Given the description of an element on the screen output the (x, y) to click on. 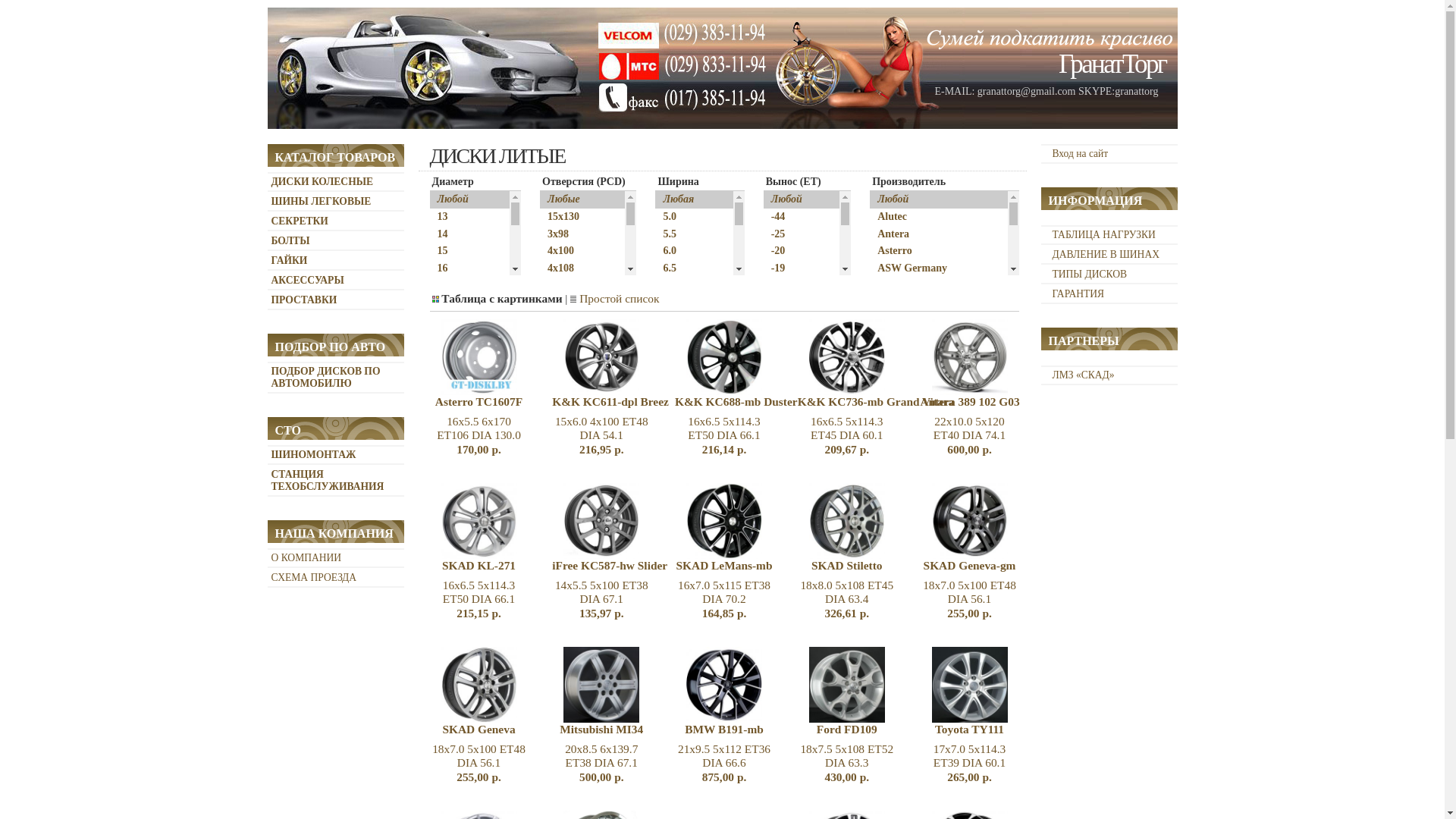
14 Element type: text (456, 234)
-25 Element type: text (788, 234)
REPLAY Element type: text (931, 787)
26 Element type: text (788, 631)
24 Element type: text (788, 596)
Mitsubishi Element type: text (931, 631)
19 Element type: text (788, 510)
15x130 Element type: text (569, 216)
ORW Element type: text (931, 666)
0 Element type: text (788, 372)
32 Element type: text (788, 752)
OZ Element type: text (931, 683)
Carwel Element type: text (931, 372)
20 Element type: text (788, 527)
7.0 Element type: text (680, 303)
MAK Element type: text (931, 596)
5x100 Element type: text (569, 320)
10.5 Element type: text (680, 423)
6.5 Element type: text (680, 268)
6.0 Element type: text (680, 250)
K&K Element type: text (931, 510)
3x98 Element type: text (569, 234)
33 Element type: text (788, 769)
6x130 Element type: text (569, 614)
ASW Germany Element type: text (931, 268)
22 Element type: text (456, 389)
FR REPLICA Element type: text (931, 441)
PDW Element type: text (931, 700)
17.50 Element type: text (456, 303)
5 Element type: text (788, 407)
5.0 Element type: text (680, 216)
LIZARDO Element type: text (931, 562)
5x120 Element type: text (569, 458)
4x108 Element type: text (569, 268)
-5 Element type: text (788, 354)
-12 Element type: text (788, 320)
19 Element type: text (456, 337)
27 Element type: text (788, 649)
11.0 Element type: text (680, 441)
-15 Element type: text (788, 303)
21 Element type: text (788, 545)
15 Element type: text (788, 458)
5x130 Element type: text (569, 493)
-18 Element type: text (788, 285)
5x98 Element type: text (569, 562)
18 Element type: text (788, 493)
PROMA Element type: text (931, 718)
BBS Element type: text (931, 320)
11.5 Element type: text (680, 458)
Asterro Element type: text (931, 250)
12 Element type: text (788, 441)
5x110 Element type: text (569, 372)
5x114.3 Element type: text (569, 407)
16 Element type: text (788, 476)
5x139.7 Element type: text (569, 510)
5x127 Element type: text (569, 476)
23 Element type: text (456, 407)
20 Element type: text (456, 354)
18 Element type: text (456, 320)
KHOMEN Element type: text (931, 527)
23 Element type: text (788, 580)
BMW Element type: text (931, 337)
DOTZ Element type: text (931, 389)
6x170 Element type: text (569, 649)
6x139.7 Element type: text (569, 631)
Jaguar Element type: text (931, 493)
5x112 Element type: text (569, 389)
iFree Element type: text (931, 476)
ATS Element type: text (931, 285)
Magnetto Element type: text (931, 580)
LandRover Element type: text (931, 545)
2 Element type: text (788, 389)
Hyundai Element type: text (931, 458)
-44 Element type: text (788, 216)
6x245 Element type: text (569, 666)
6x127 Element type: text (569, 596)
5x160 Element type: text (569, 545)
6.8 Element type: text (680, 285)
RC Element type: text (931, 752)
6x114.3 Element type: text (569, 580)
Mercedes Element type: text (931, 614)
ATS Germany Element type: text (931, 303)
5x115 Element type: text (569, 423)
5x105 Element type: text (569, 337)
Borbet Element type: text (931, 354)
10.0 Element type: text (680, 407)
Remain Element type: text (931, 769)
30 Element type: text (788, 700)
Alutec Element type: text (931, 216)
5x118 Element type: text (569, 441)
9.5 Element type: text (680, 389)
Race Ready Technology Element type: text (931, 735)
5.5 Element type: text (680, 234)
-20 Element type: text (788, 250)
8.5 Element type: text (680, 354)
25 Element type: text (788, 614)
31 Element type: text (788, 718)
4x114.3 Element type: text (569, 285)
22 Element type: text (788, 562)
5x150 Element type: text (569, 527)
34 Element type: text (788, 804)
NEO Element type: text (931, 649)
32 Element type: text (788, 735)
5x108 Element type: text (569, 354)
15 Element type: text (456, 250)
9.0 Element type: text (680, 372)
28 Element type: text (788, 666)
12.0 Element type: text (680, 476)
16 Element type: text (456, 268)
Fondmetal Element type: text (931, 407)
Ford Element type: text (931, 423)
8.0 Element type: text (680, 337)
4x98 Element type: text (569, 303)
13 Element type: text (456, 216)
17 Element type: text (456, 285)
7.5 Element type: text (680, 320)
21 Element type: text (456, 372)
29 Element type: text (788, 683)
-19 Element type: text (788, 268)
-10 Element type: text (788, 337)
Rial Element type: text (931, 804)
Antera Element type: text (931, 234)
34 Element type: text (788, 787)
4x100 Element type: text (569, 250)
10 Element type: text (788, 423)
